Given the description of an element on the screen output the (x, y) to click on. 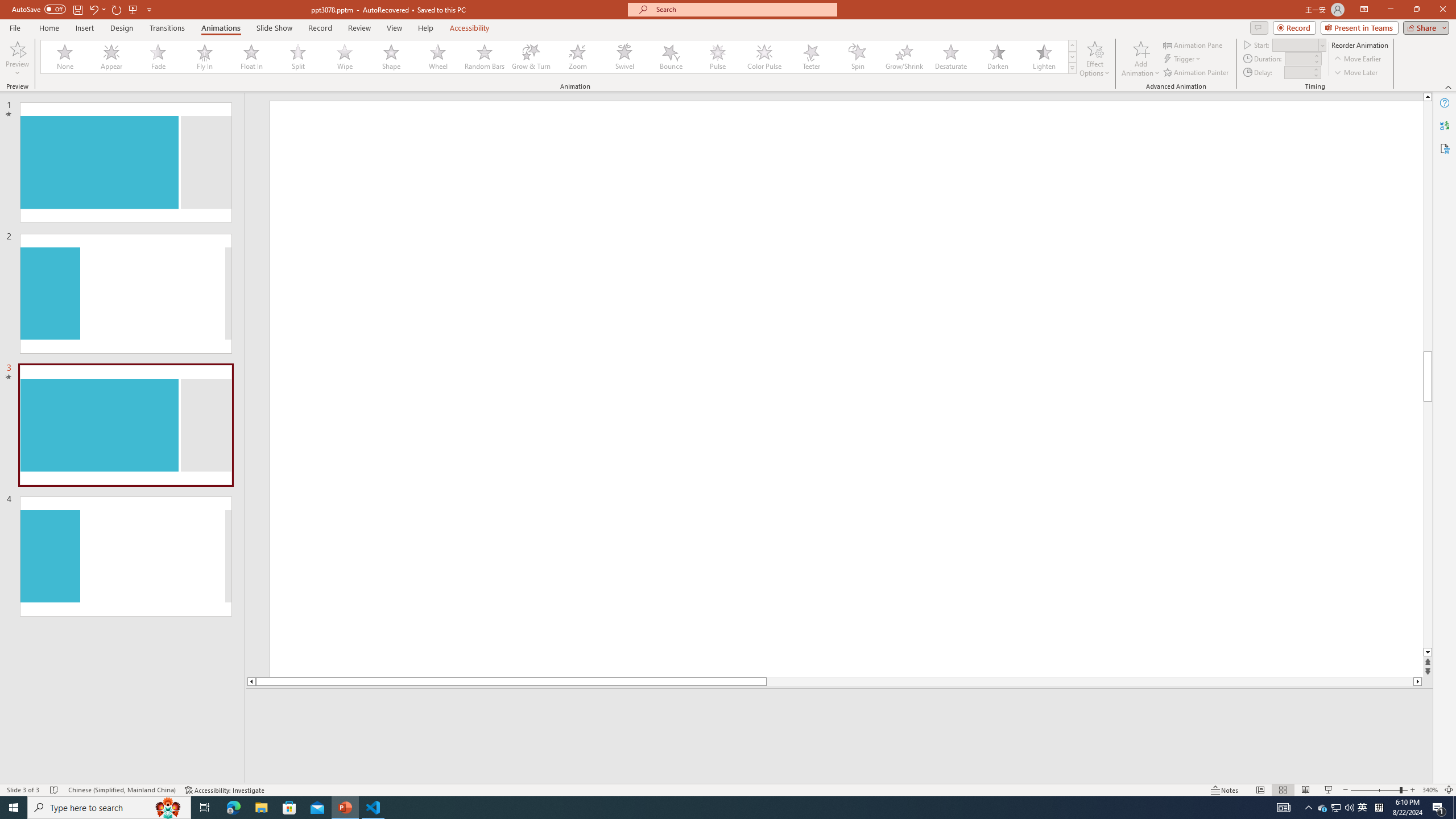
Split (298, 56)
Random Bars (484, 56)
Wheel (437, 56)
Desaturate (950, 56)
Spin (857, 56)
Pulse (717, 56)
Trigger (1182, 58)
